Given the description of an element on the screen output the (x, y) to click on. 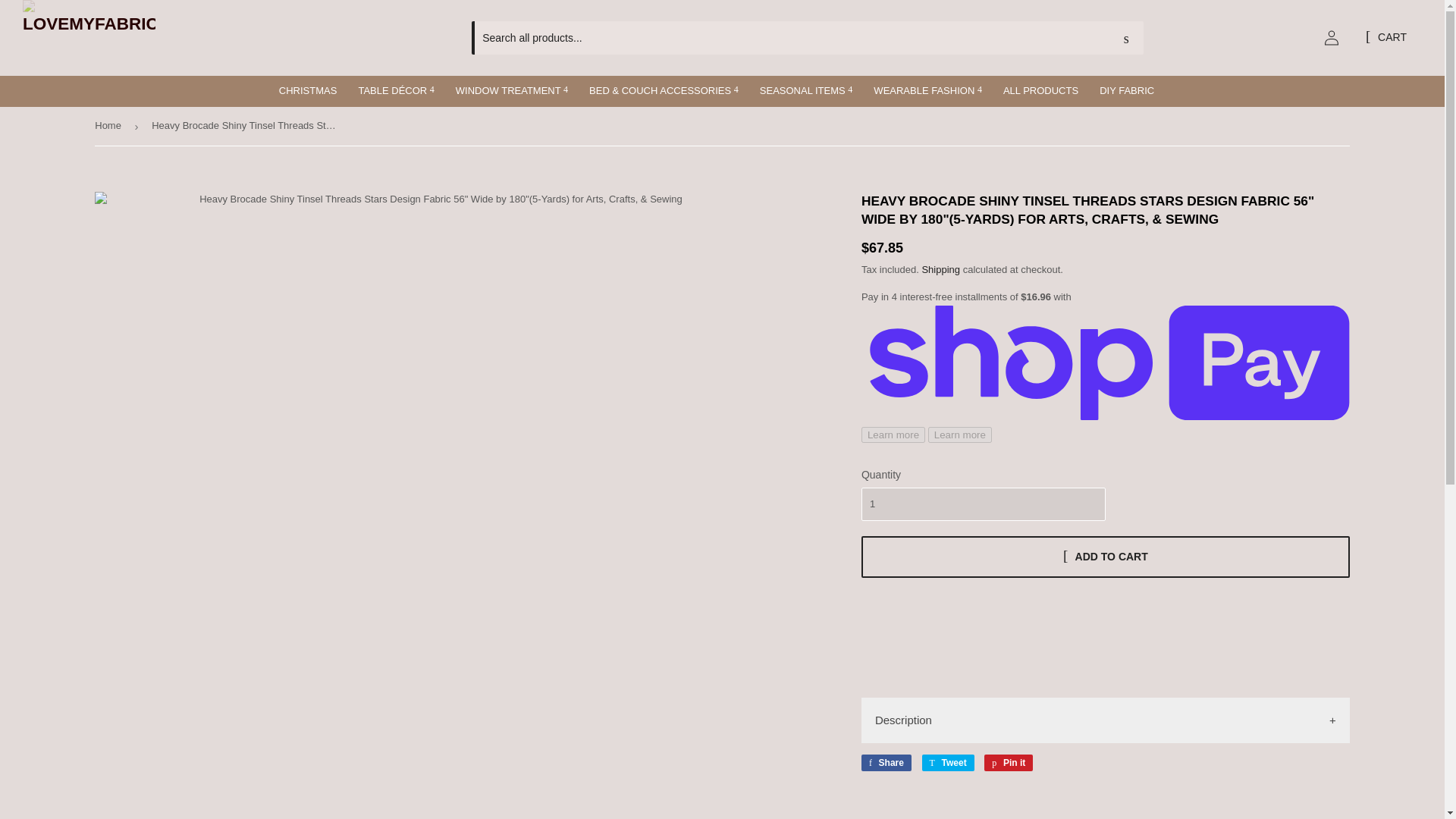
Search (1125, 38)
Pin on Pinterest (1008, 762)
1 (983, 503)
CART (1386, 37)
Share on Facebook (886, 762)
Tweet on Twitter (947, 762)
